Given the description of an element on the screen output the (x, y) to click on. 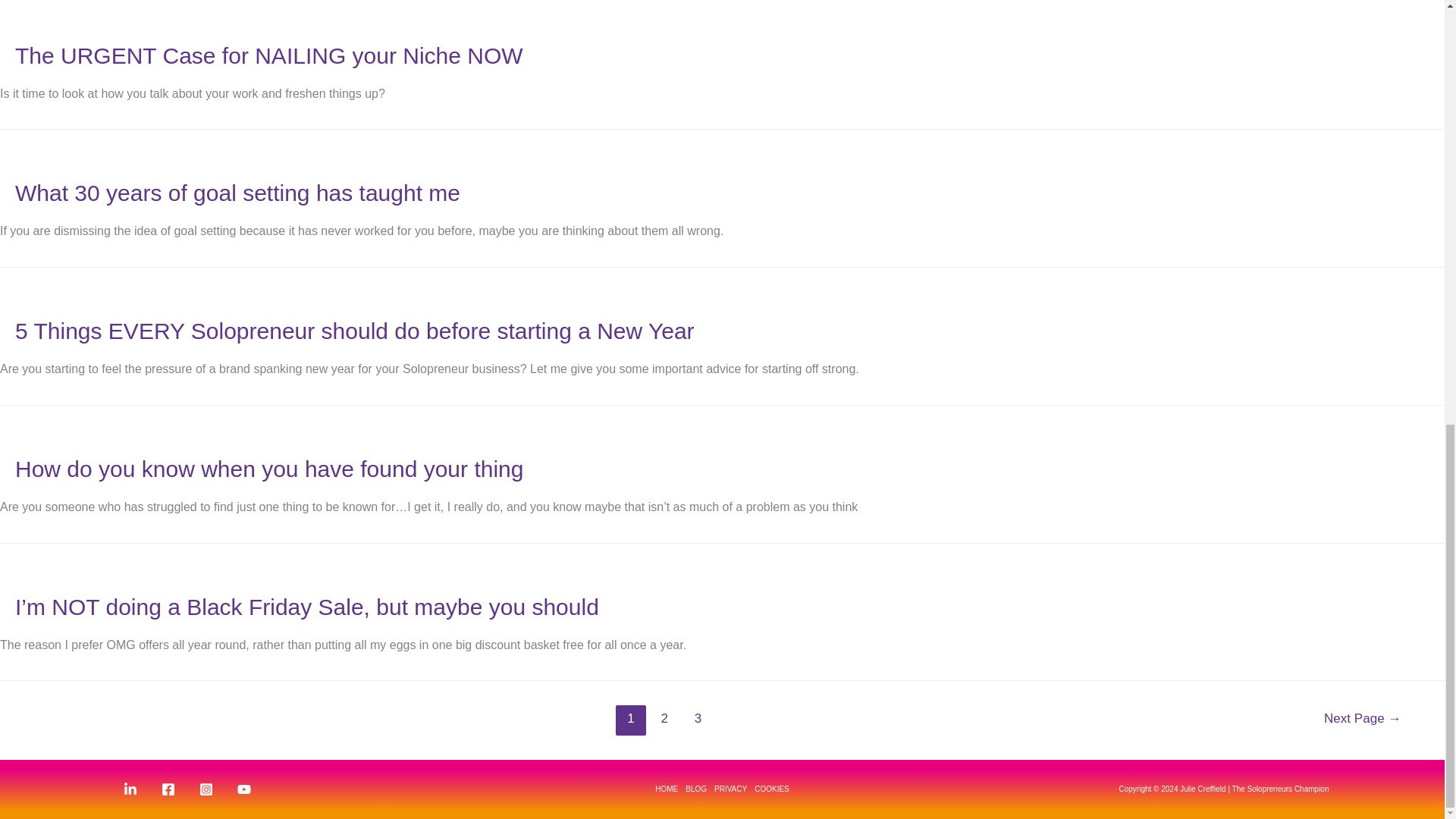
3 (697, 720)
The URGENT Case for NAILING your Niche NOW (268, 55)
How do you know when you have found your thing (268, 468)
What 30 years of goal setting has taught me (237, 192)
2 (664, 720)
